Given the description of an element on the screen output the (x, y) to click on. 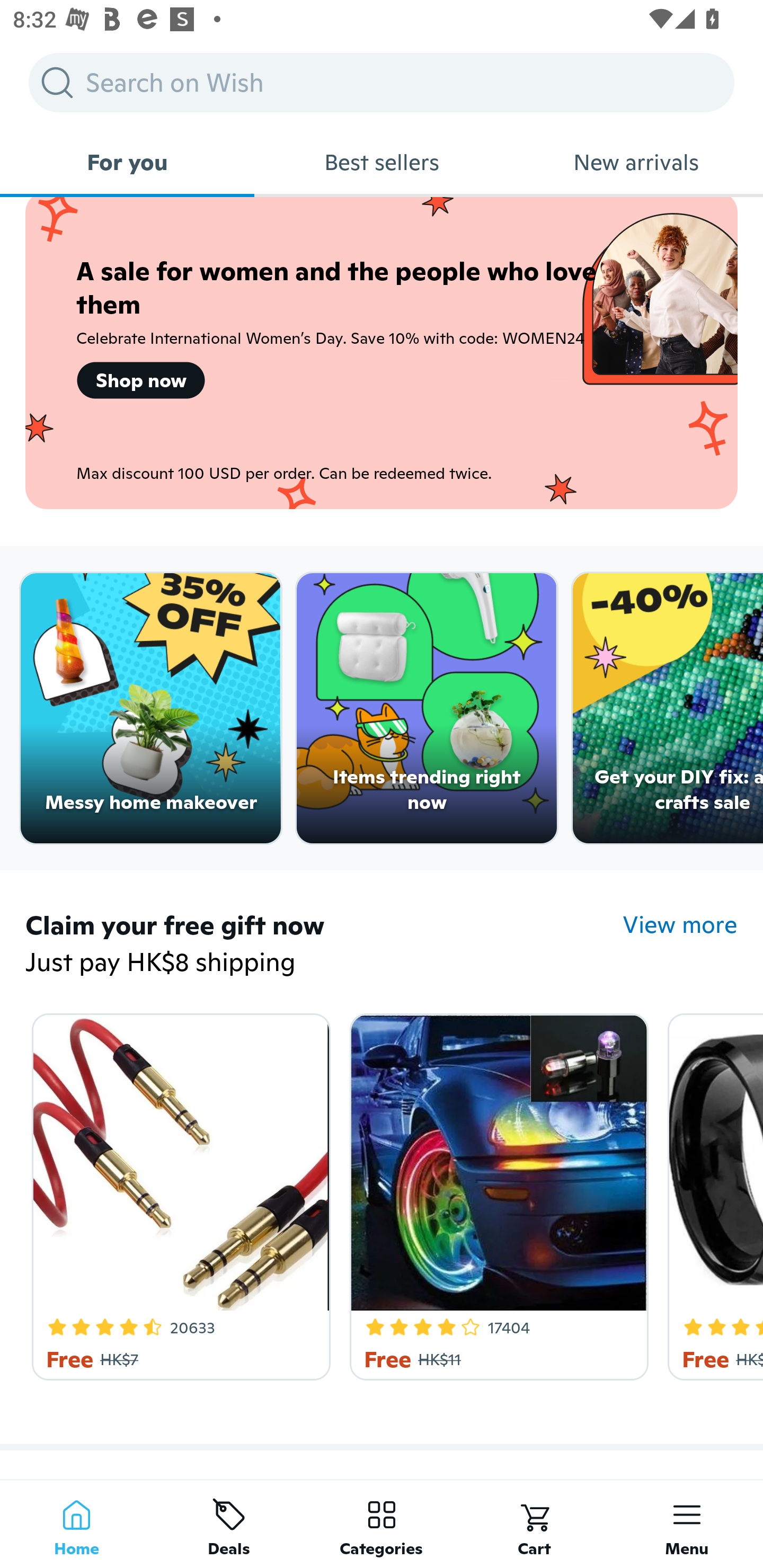
Search on Wish (381, 82)
For you (127, 161)
Best sellers (381, 161)
New arrivals (635, 161)
Messy home makeover (150, 708)
Items trending right now (426, 708)
Get your DIY fix: arts & crafts sale (668, 708)
Claim your free gift now
Just pay HK$8 shipping (323, 944)
View more (679, 923)
4.3 Star Rating 20633 Free HK$7 (177, 1192)
3.8 Star Rating 17404 Free HK$11 (495, 1192)
Home (76, 1523)
Deals (228, 1523)
Categories (381, 1523)
Cart (533, 1523)
Menu (686, 1523)
